Given the description of an element on the screen output the (x, y) to click on. 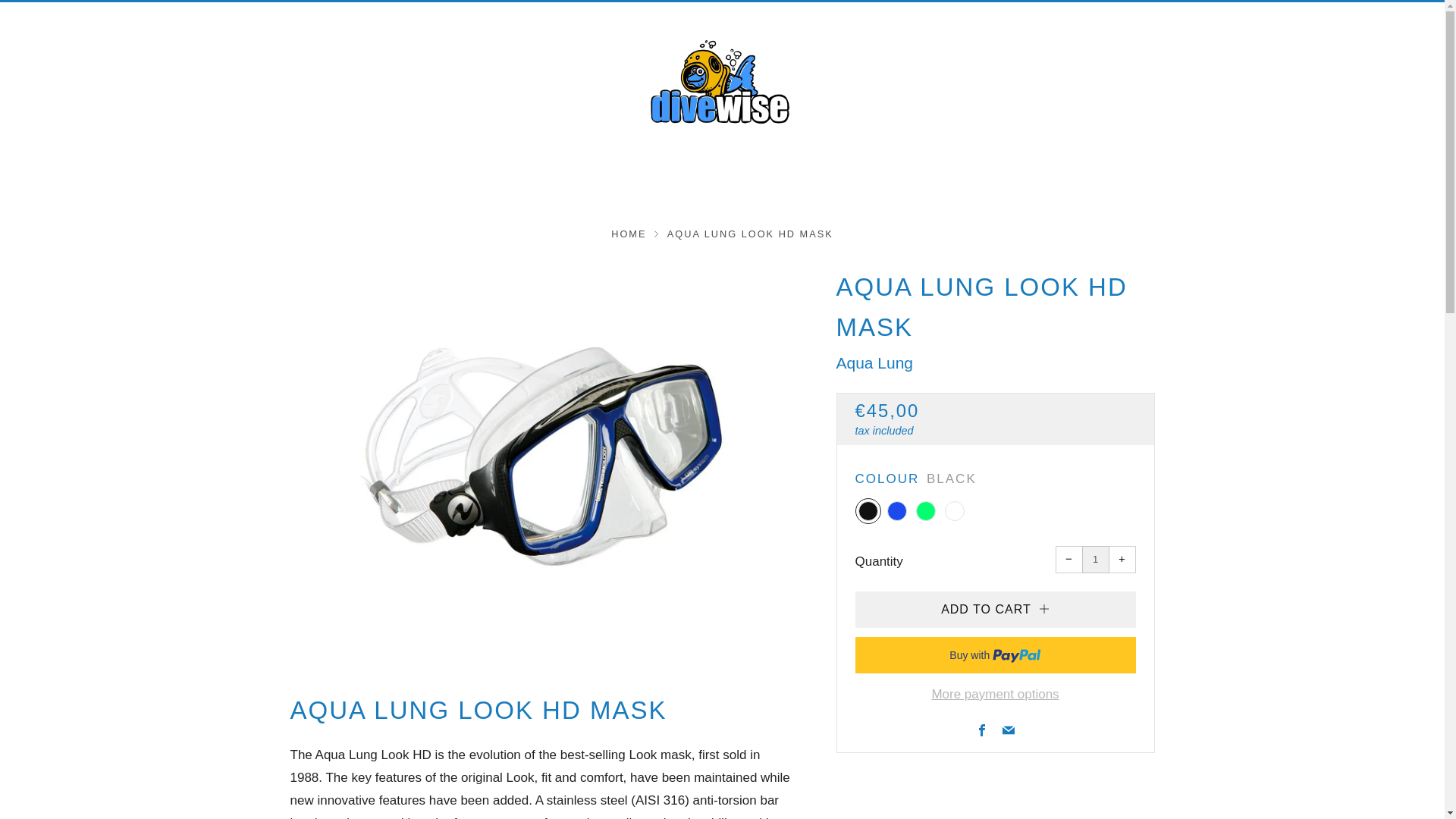
Aqua Lung (873, 362)
1 (1094, 559)
Home (628, 233)
